Given the description of an element on the screen output the (x, y) to click on. 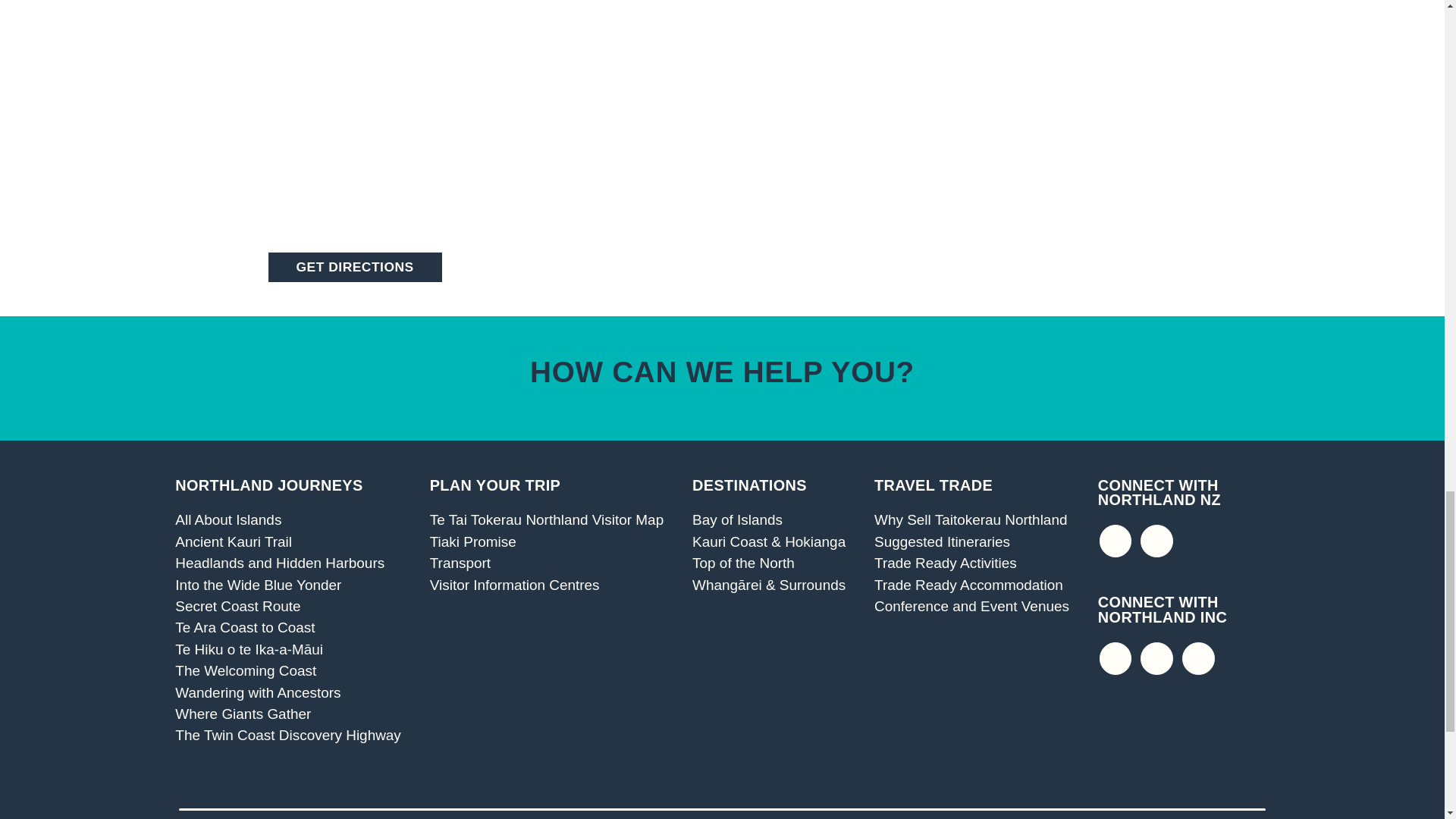
Connect on Facebook (1115, 540)
Connect on Instagram (1156, 540)
Connect on Facebook (1115, 658)
Connect on Instagram (1156, 658)
Connect on LinkedIn (1198, 658)
